Given the description of an element on the screen output the (x, y) to click on. 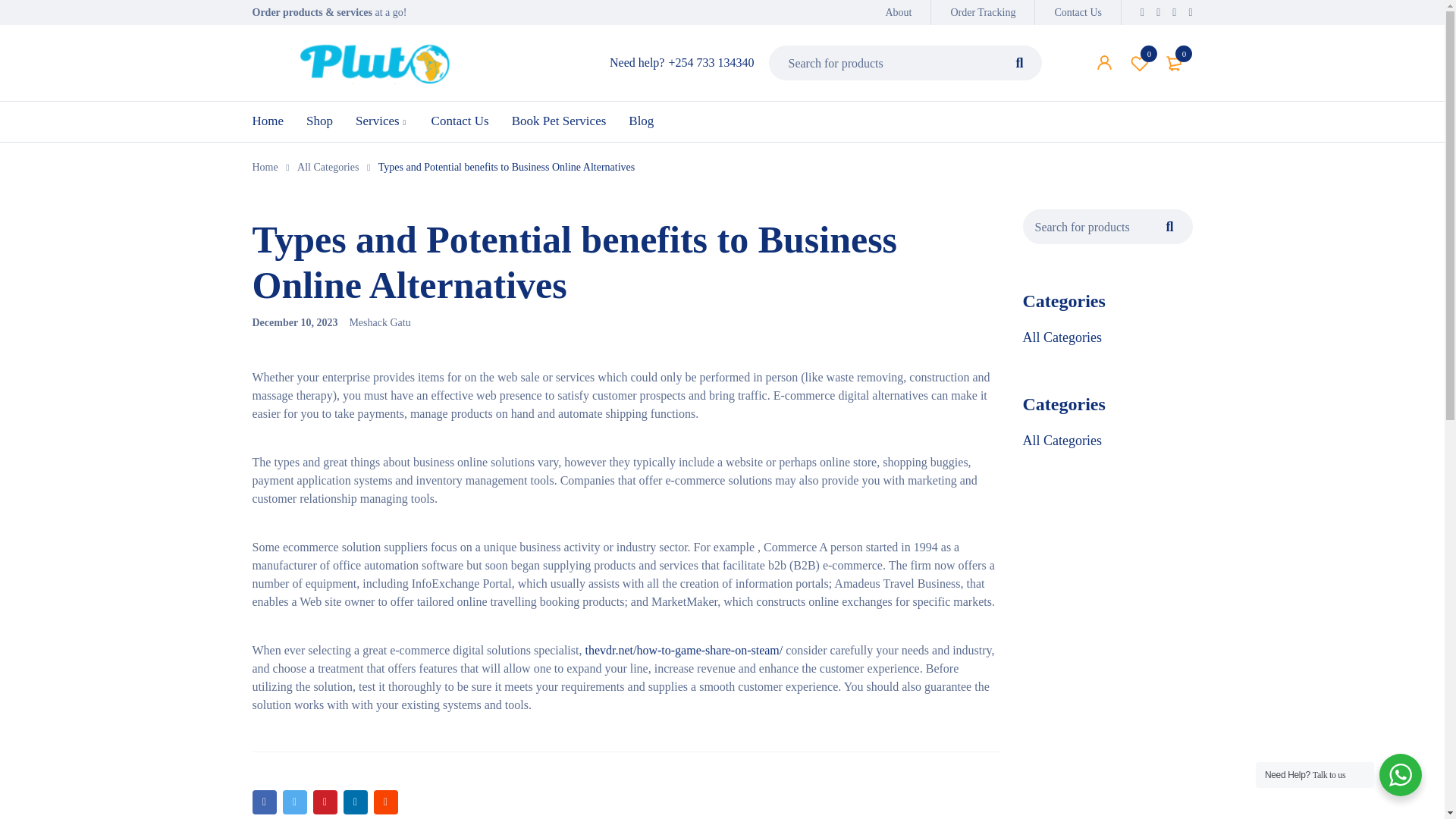
Order Tracking (982, 12)
View your shopping cart (1174, 62)
Search (1018, 62)
Contact Us (1078, 12)
Pluto Pets (373, 63)
Posts by Meshack Gatu (379, 322)
Search (1018, 62)
About (1139, 62)
Wishlist (898, 12)
